Given the description of an element on the screen output the (x, y) to click on. 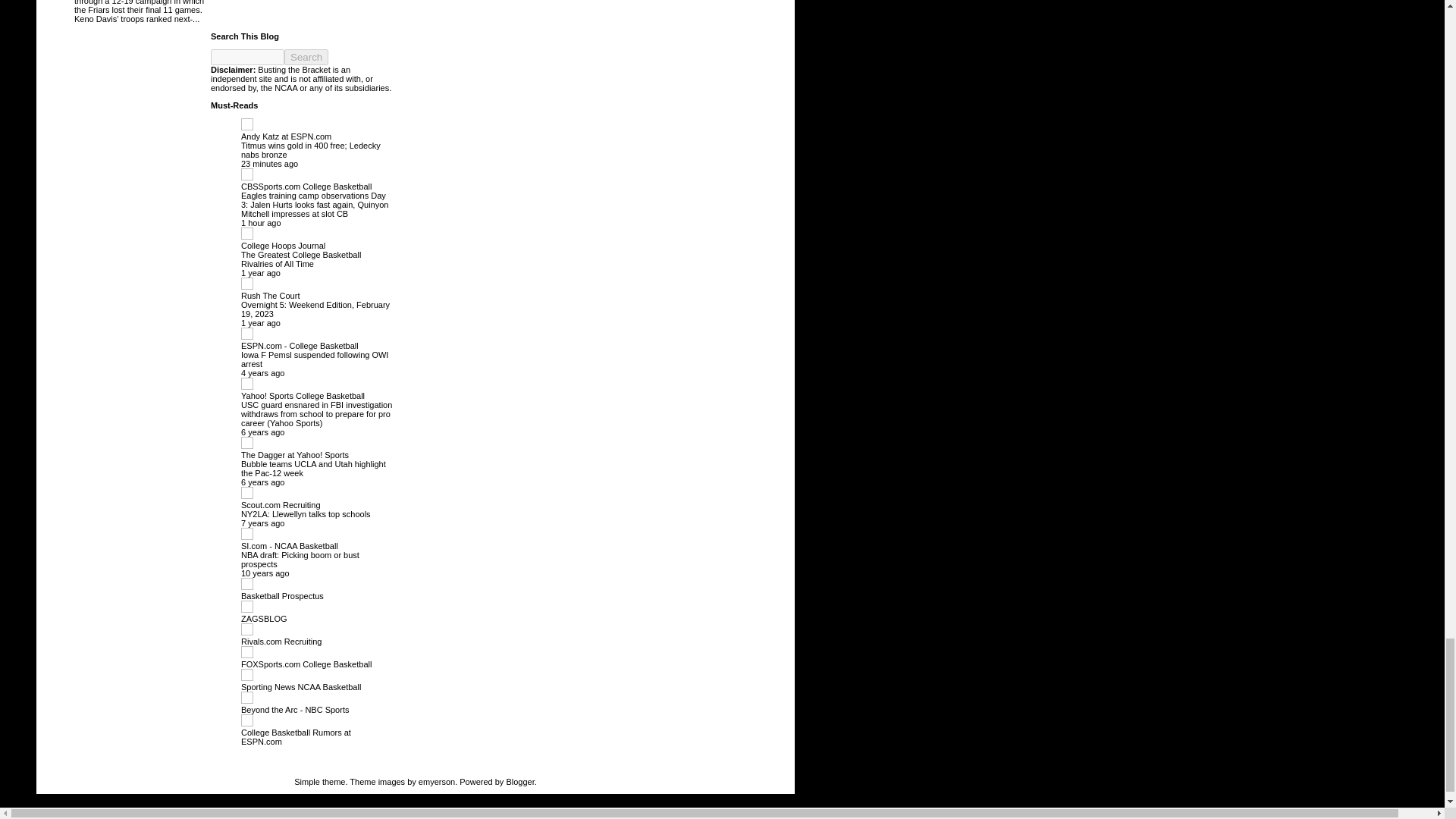
Search (306, 57)
Search (306, 57)
search (306, 57)
search (247, 57)
